Given the description of an element on the screen output the (x, y) to click on. 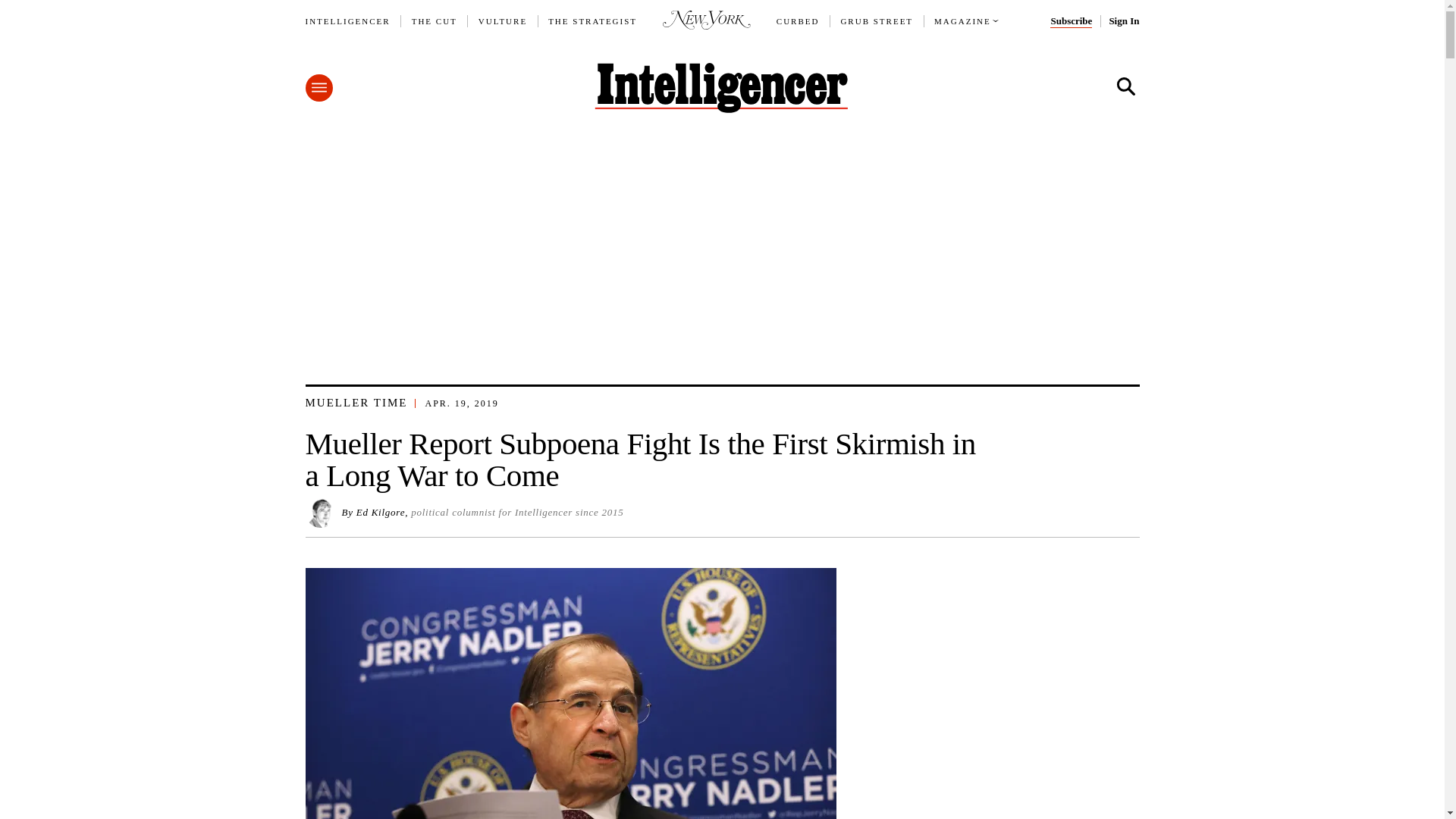
GRUB STREET (876, 21)
THE CUT (434, 21)
Search (1124, 86)
INTELLIGENCER (347, 21)
Search (1124, 86)
Menu (317, 87)
VULTURE (503, 21)
THE STRATEGIST (592, 21)
CURBED (797, 21)
Subscribe (1070, 21)
MAGAZINE (962, 21)
Sign In (1123, 21)
